Given the description of an element on the screen output the (x, y) to click on. 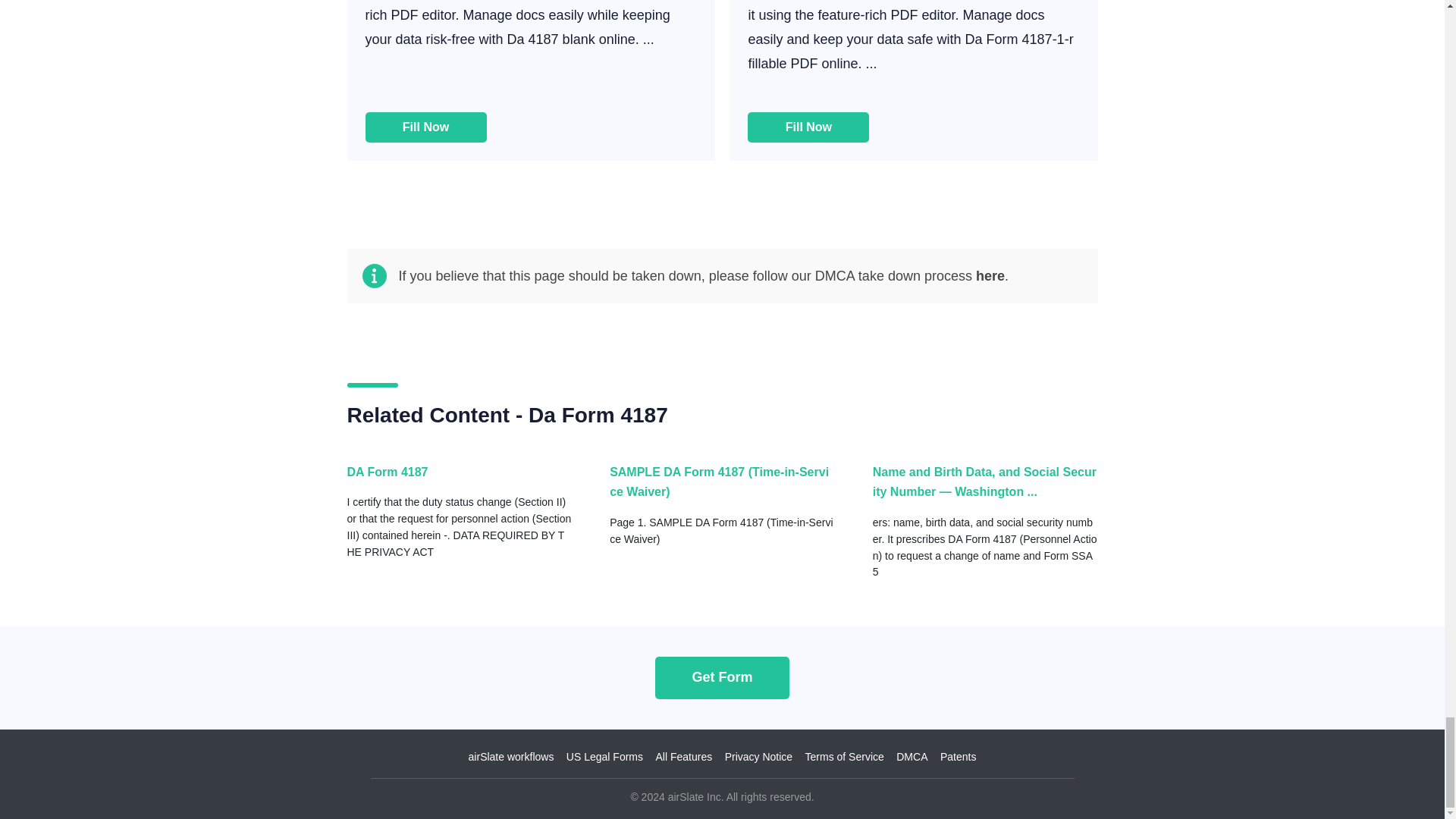
Patents (957, 756)
DMCA (911, 756)
Privacy Notice (758, 756)
airSlate workflows (511, 756)
US Legal Forms (604, 756)
All Features (683, 756)
Terms of Service (844, 756)
here (989, 275)
